Given the description of an element on the screen output the (x, y) to click on. 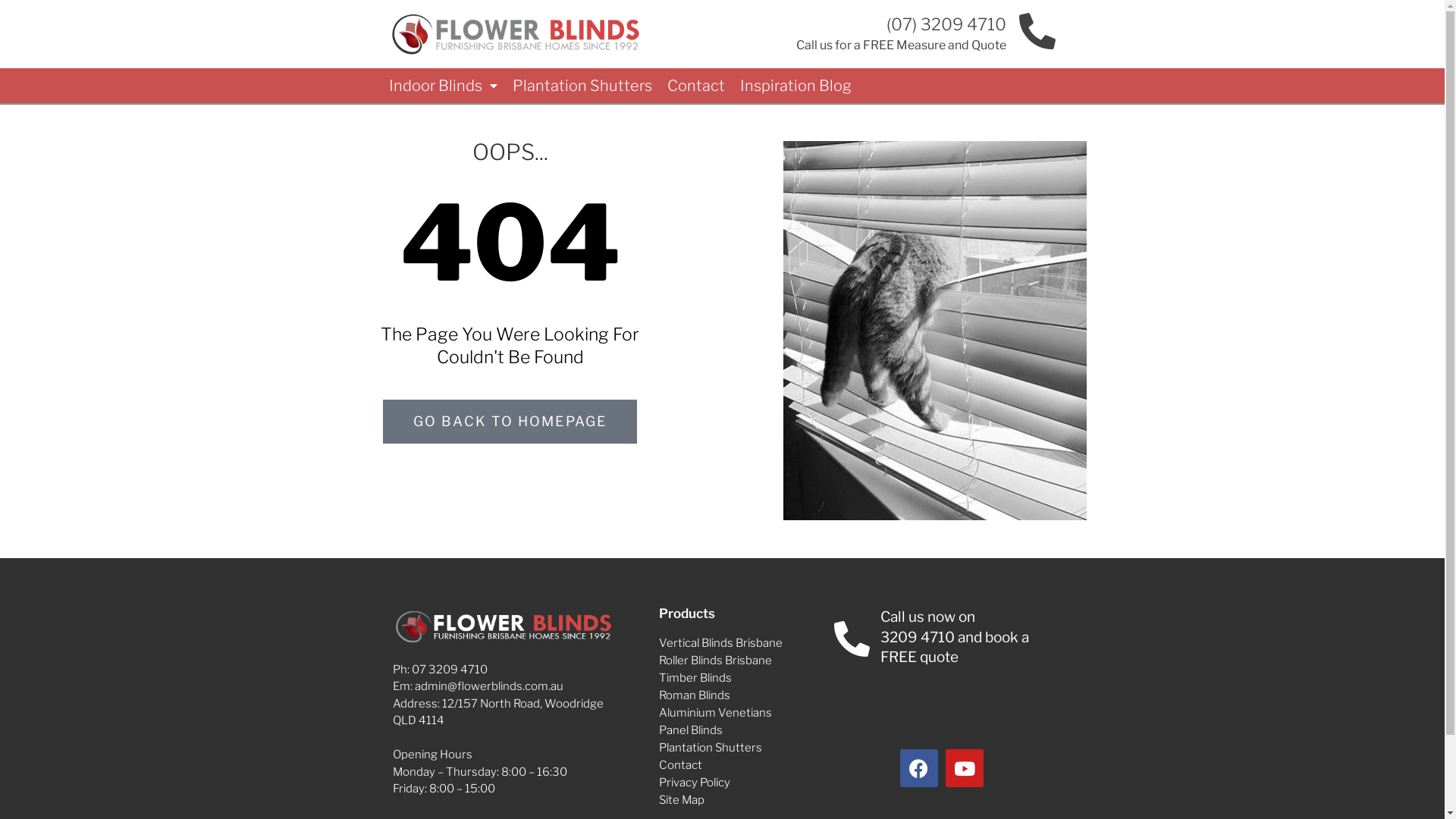
Contact Element type: text (742, 764)
Plantation Shutters Element type: text (742, 747)
Call us now on
3209 4710 and book a FREE quote Element type: text (954, 636)
Privacy Policy Element type: text (742, 782)
(07) 3209 4710 Element type: text (946, 24)
Plantation Shutters Element type: text (582, 85)
Contact Element type: text (695, 85)
Roller Blinds Brisbane Element type: text (742, 660)
Inspiration Blog Element type: text (795, 85)
Roman Blinds Element type: text (742, 694)
Indoor Blinds Element type: text (442, 85)
Panel Blinds Element type: text (742, 729)
Vertical Blinds Brisbane Element type: text (742, 642)
Site Map Element type: text (742, 799)
Timber Blinds Element type: text (742, 677)
GO BACK TO HOMEPAGE Element type: text (509, 421)
cat Element type: hover (933, 330)
Aluminium Venetians Element type: text (742, 712)
